Given the description of an element on the screen output the (x, y) to click on. 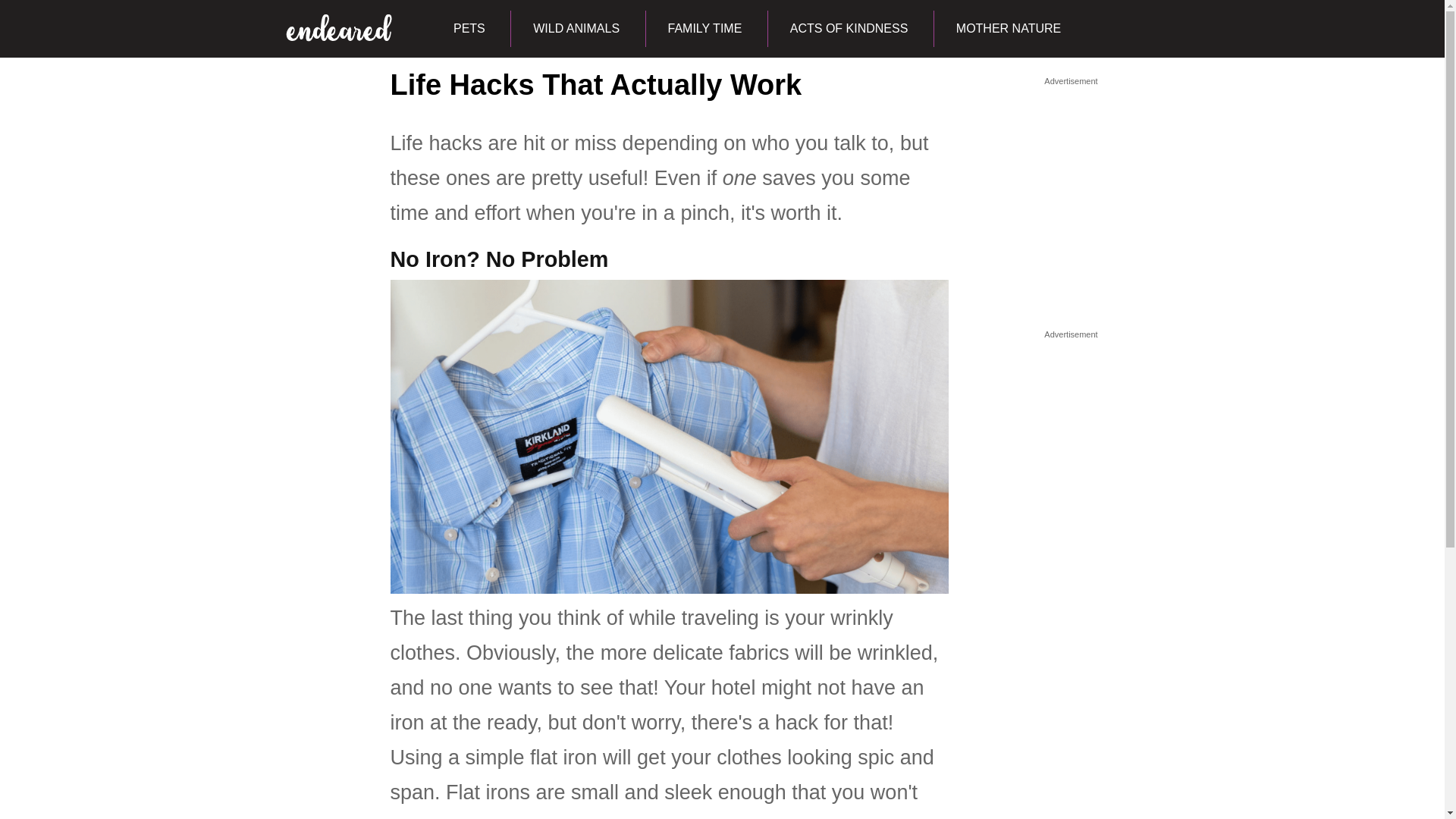
MOTHER NATURE (1008, 28)
FAMILY TIME (704, 28)
PETS (468, 28)
WILD ANIMALS (576, 28)
ACTS OF KINDNESS (848, 28)
